Given the description of an element on the screen output the (x, y) to click on. 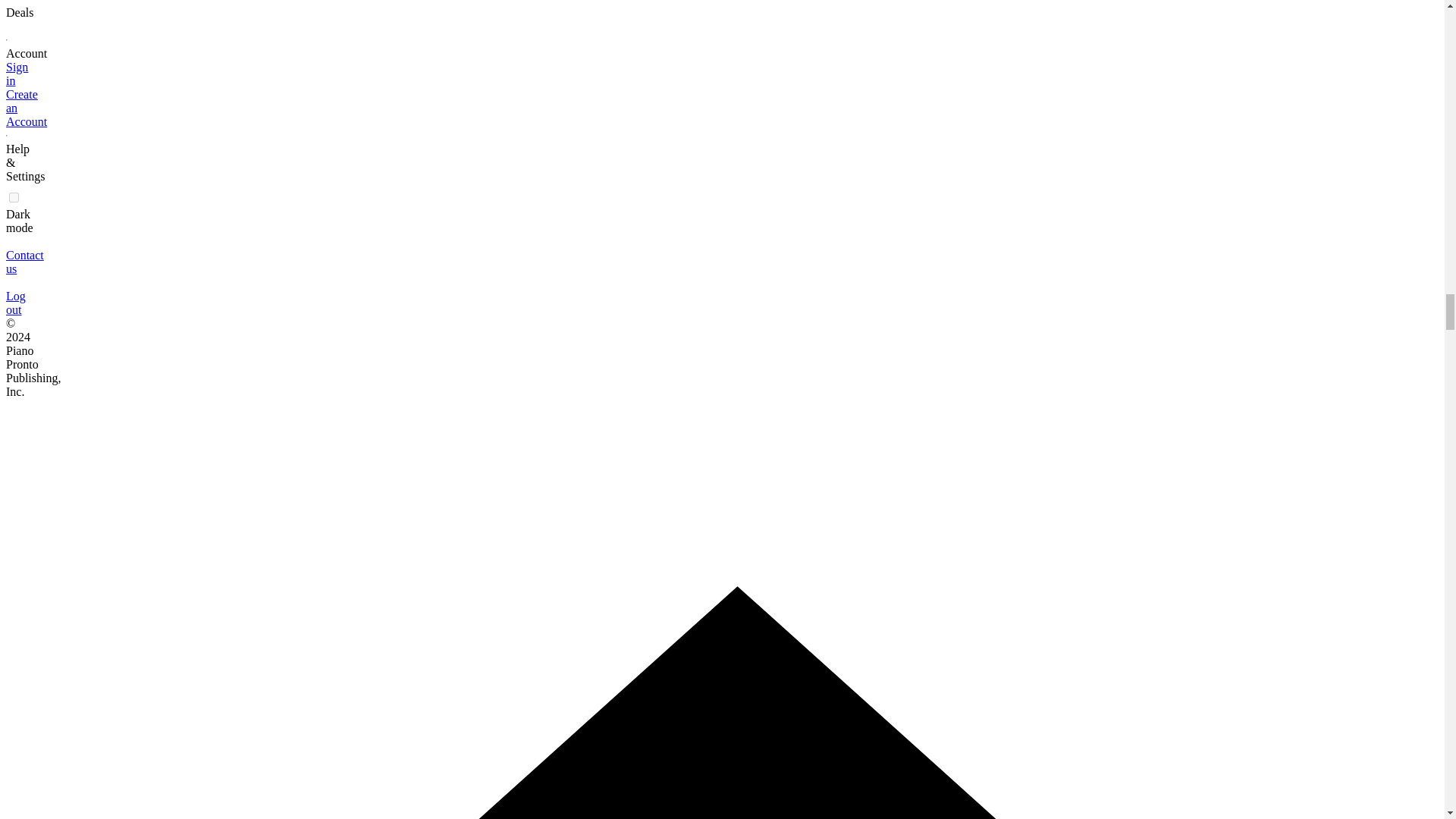
on (13, 197)
